Given the description of an element on the screen output the (x, y) to click on. 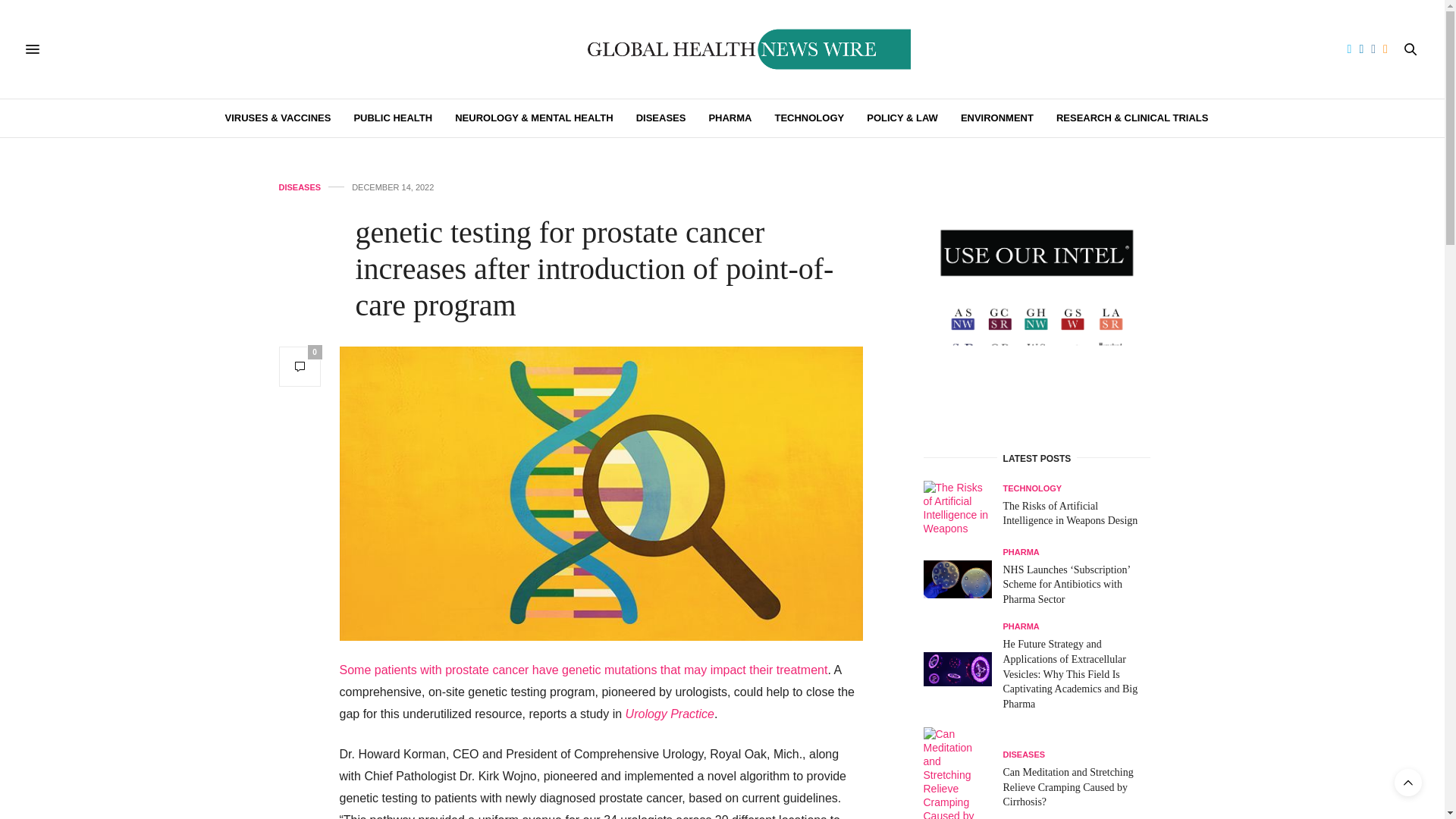
ENVIRONMENT (996, 118)
TECHNOLOGY (809, 118)
The Risks of Artificial Intelligence in Weapons Design (1070, 513)
PHARMA (729, 118)
The Risks of Artificial Intelligence in Weapons Design (963, 508)
DISEASES (660, 118)
Urology Practice (670, 713)
0 (299, 366)
